Given the description of an element on the screen output the (x, y) to click on. 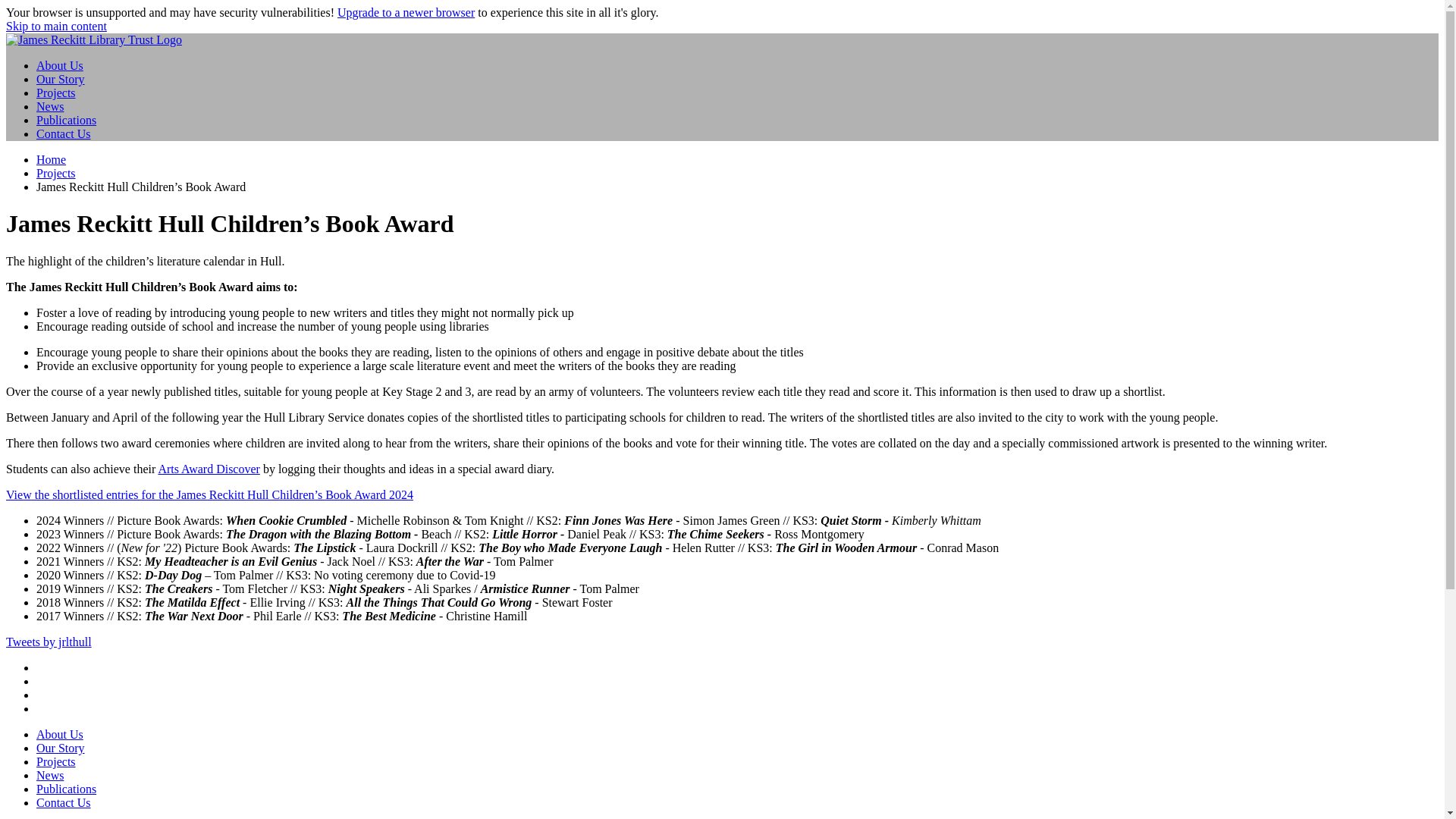
Tweets by jrlthull (48, 641)
Contact Us (63, 133)
Our Story (60, 78)
Projects (55, 173)
Skip to main content (55, 25)
Publications (66, 788)
News (50, 775)
Upgrade to a newer browser (405, 11)
Arts Award Discover (208, 468)
Home (93, 39)
Home (50, 159)
Projects (55, 92)
Publications (66, 119)
Our Story (60, 748)
Projects (55, 761)
